Given the description of an element on the screen output the (x, y) to click on. 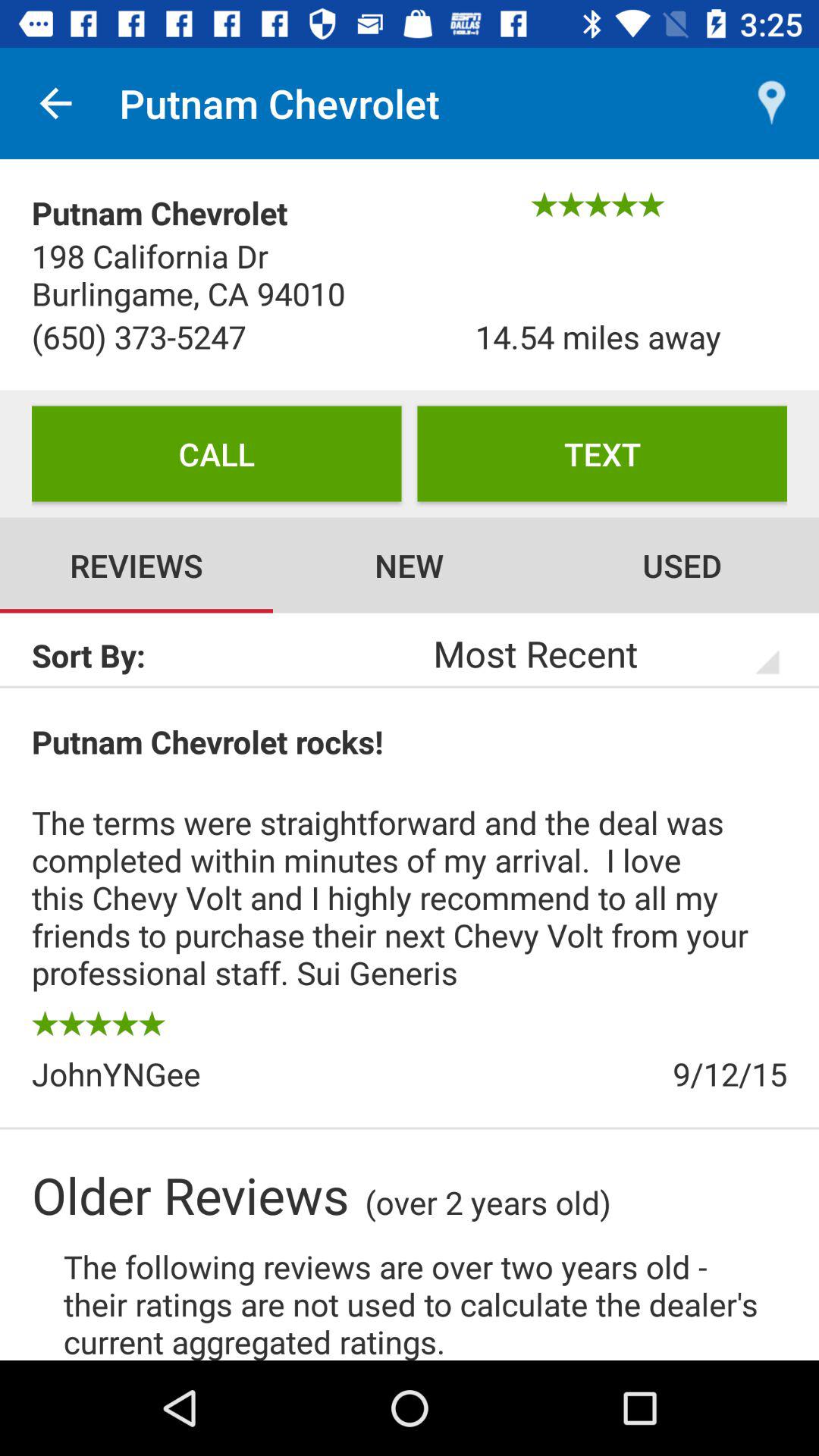
choose the item next to the sort by: icon (586, 653)
